Given the description of an element on the screen output the (x, y) to click on. 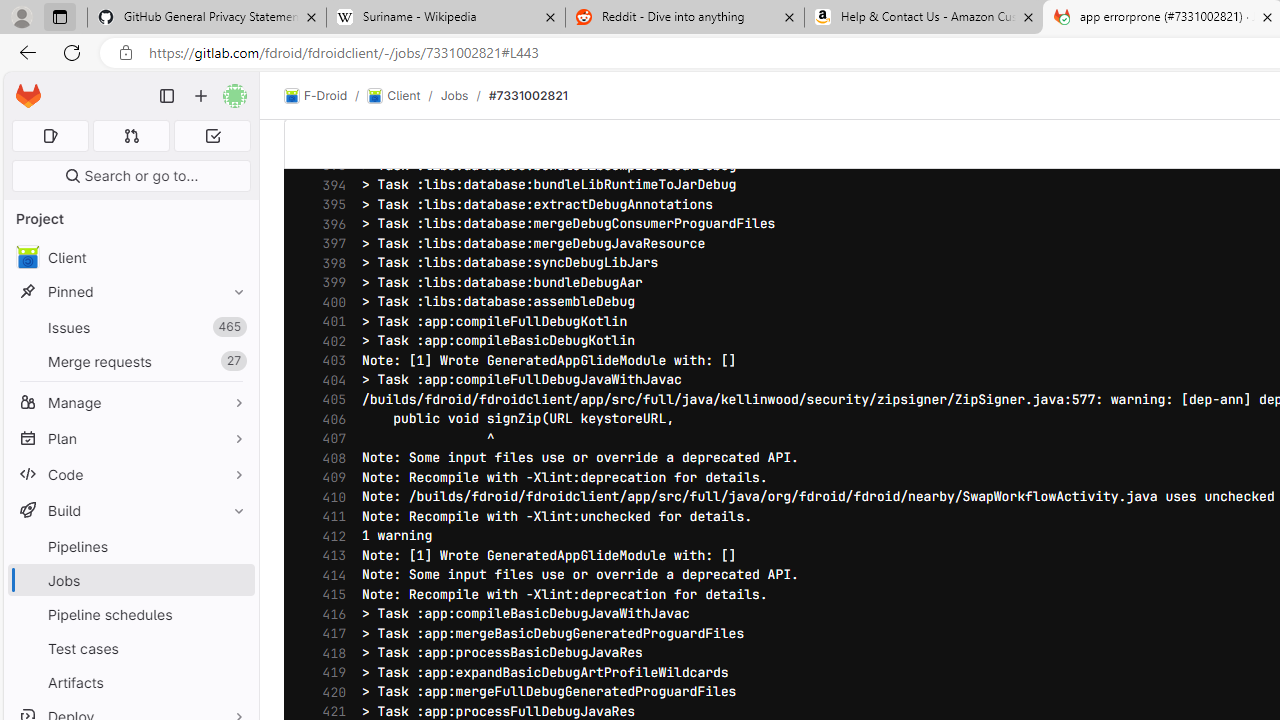
404 (329, 380)
408 (329, 457)
402 (329, 341)
403 (329, 360)
412 (329, 536)
Client/ (404, 96)
389 (329, 87)
405 (329, 399)
avatar (27, 257)
Create new... (201, 96)
420 (329, 691)
Issues 465 (130, 327)
Help & Contact Us - Amazon Customer Service (924, 17)
